Given the description of an element on the screen output the (x, y) to click on. 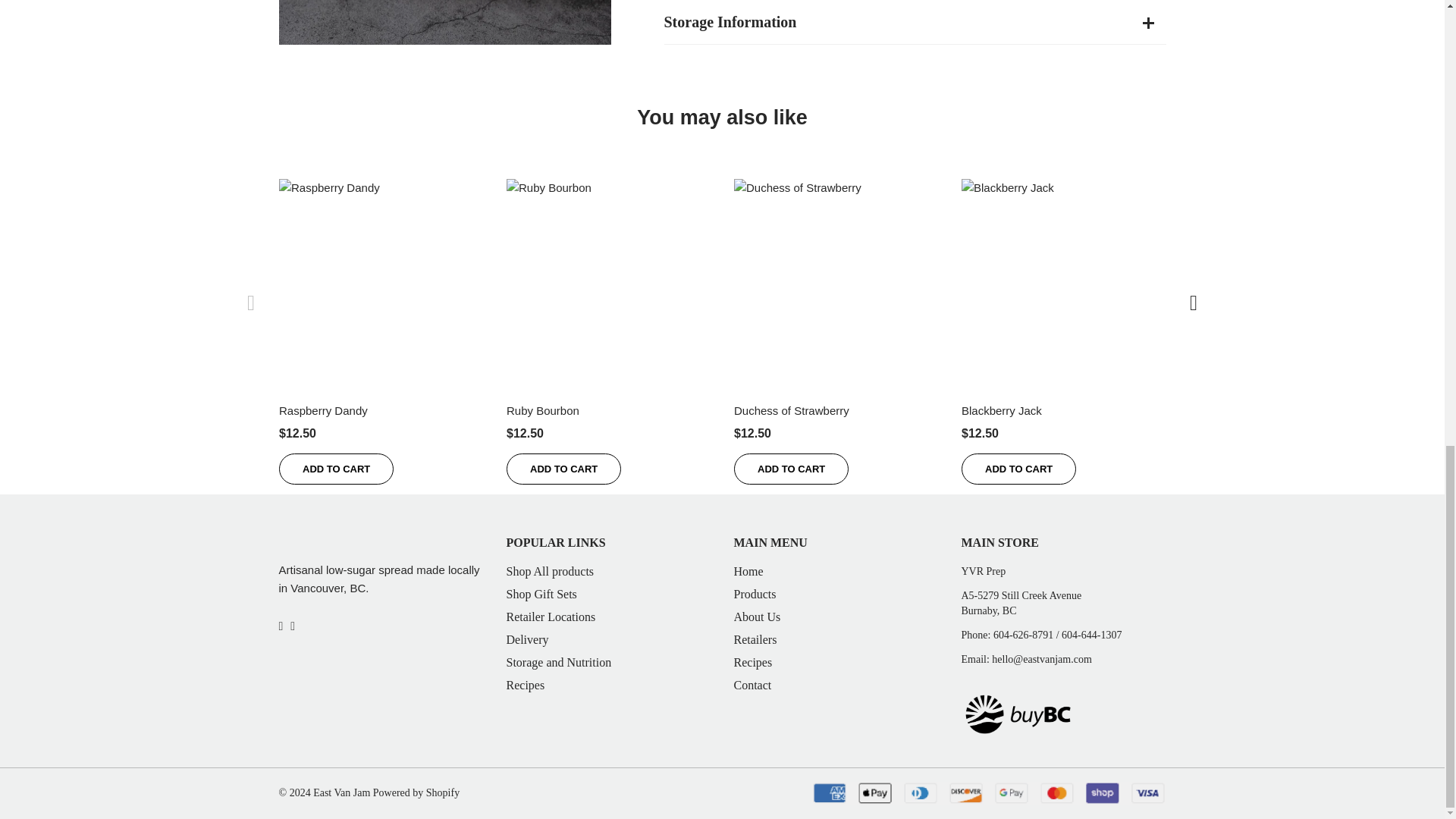
Blackberry Jack (1063, 281)
View all (722, 117)
Duchess of Strawberry (836, 281)
Raspberry Dandy (381, 281)
Raspberry Dandy (323, 410)
Ruby Bourbon (542, 410)
Ruby Bourbon (608, 281)
Duchess of Strawberry (790, 410)
